Given the description of an element on the screen output the (x, y) to click on. 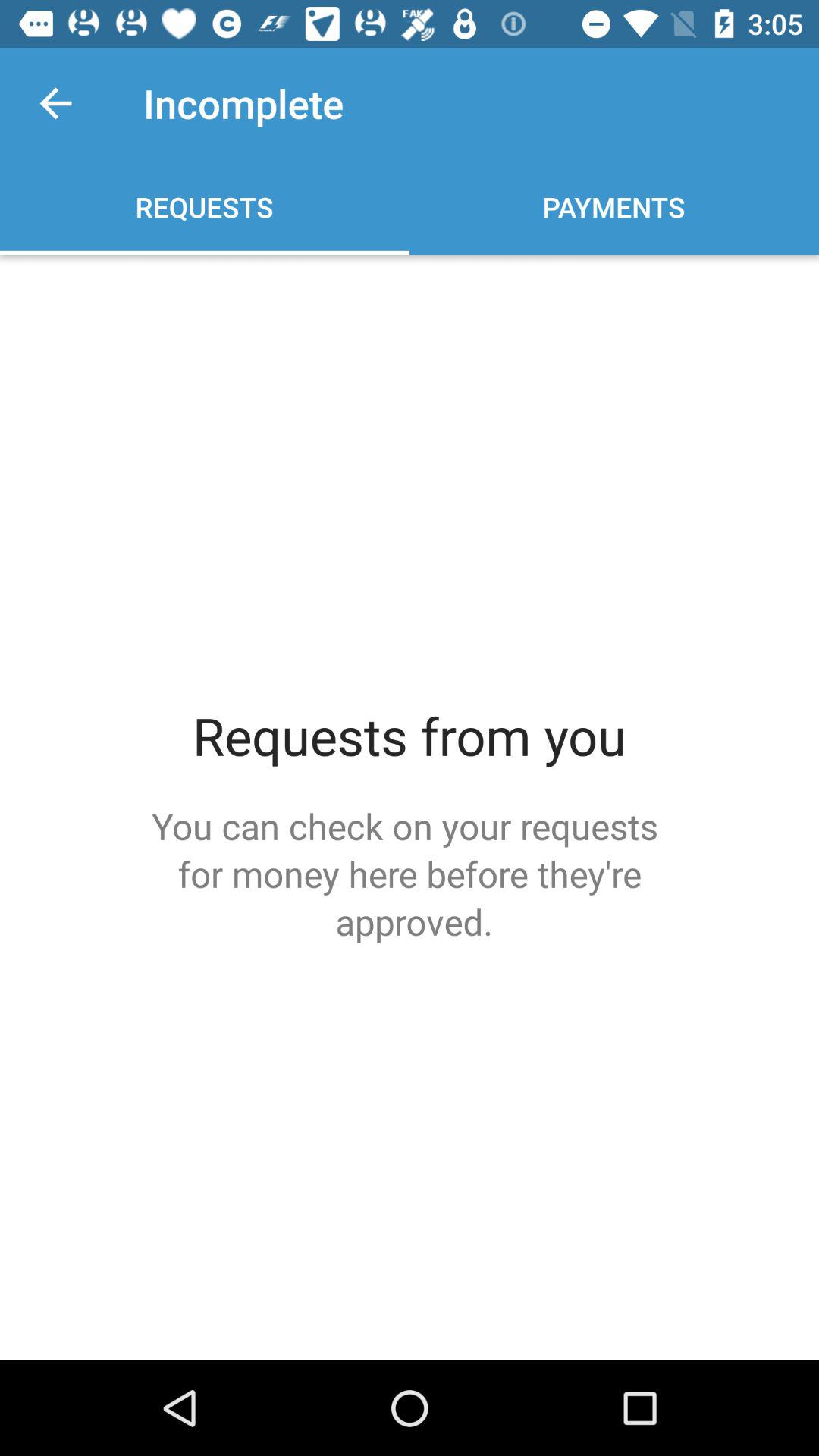
launch the icon next to the incomplete app (55, 103)
